Given the description of an element on the screen output the (x, y) to click on. 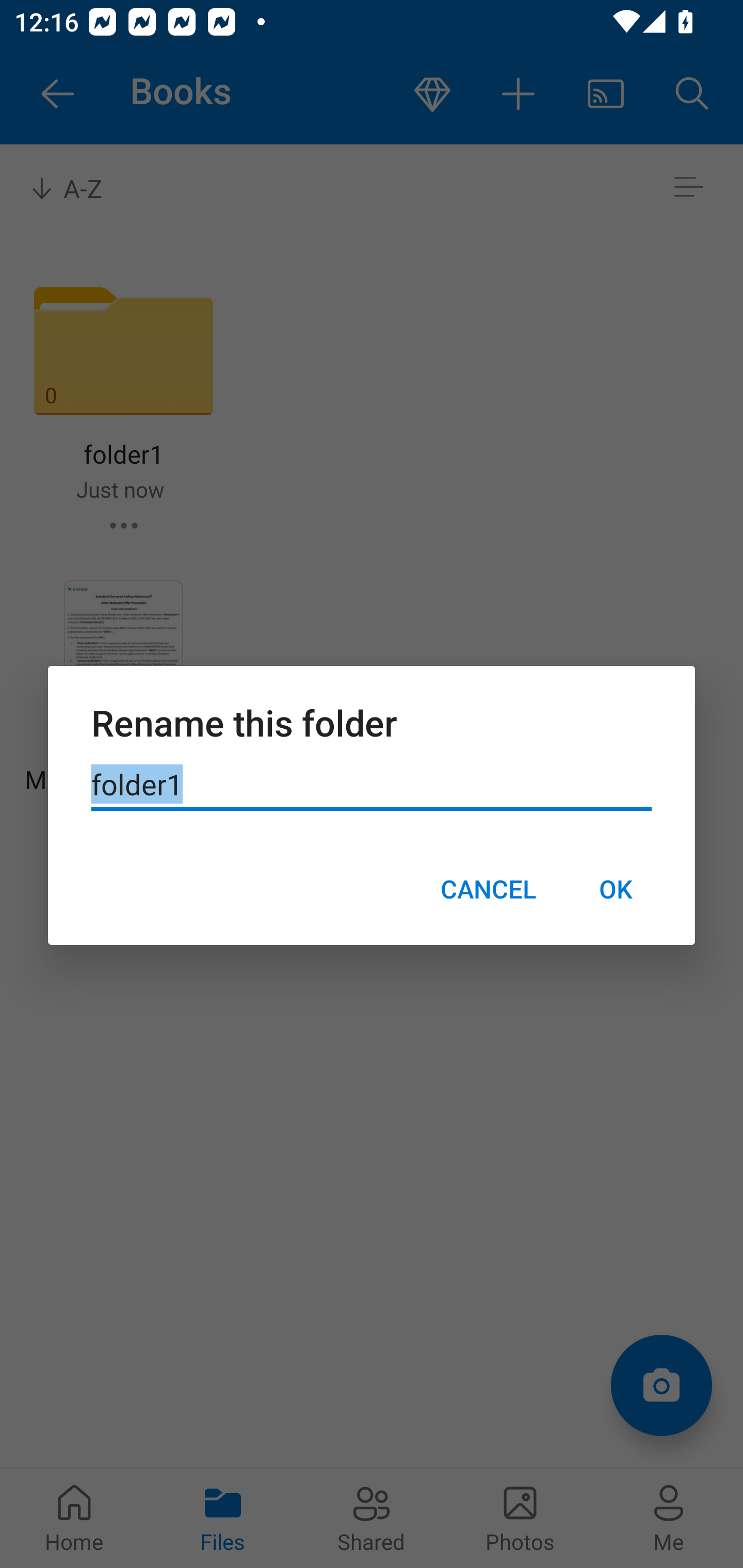
folder1 (371, 784)
CANCEL (488, 888)
OK (615, 888)
